Given the description of an element on the screen output the (x, y) to click on. 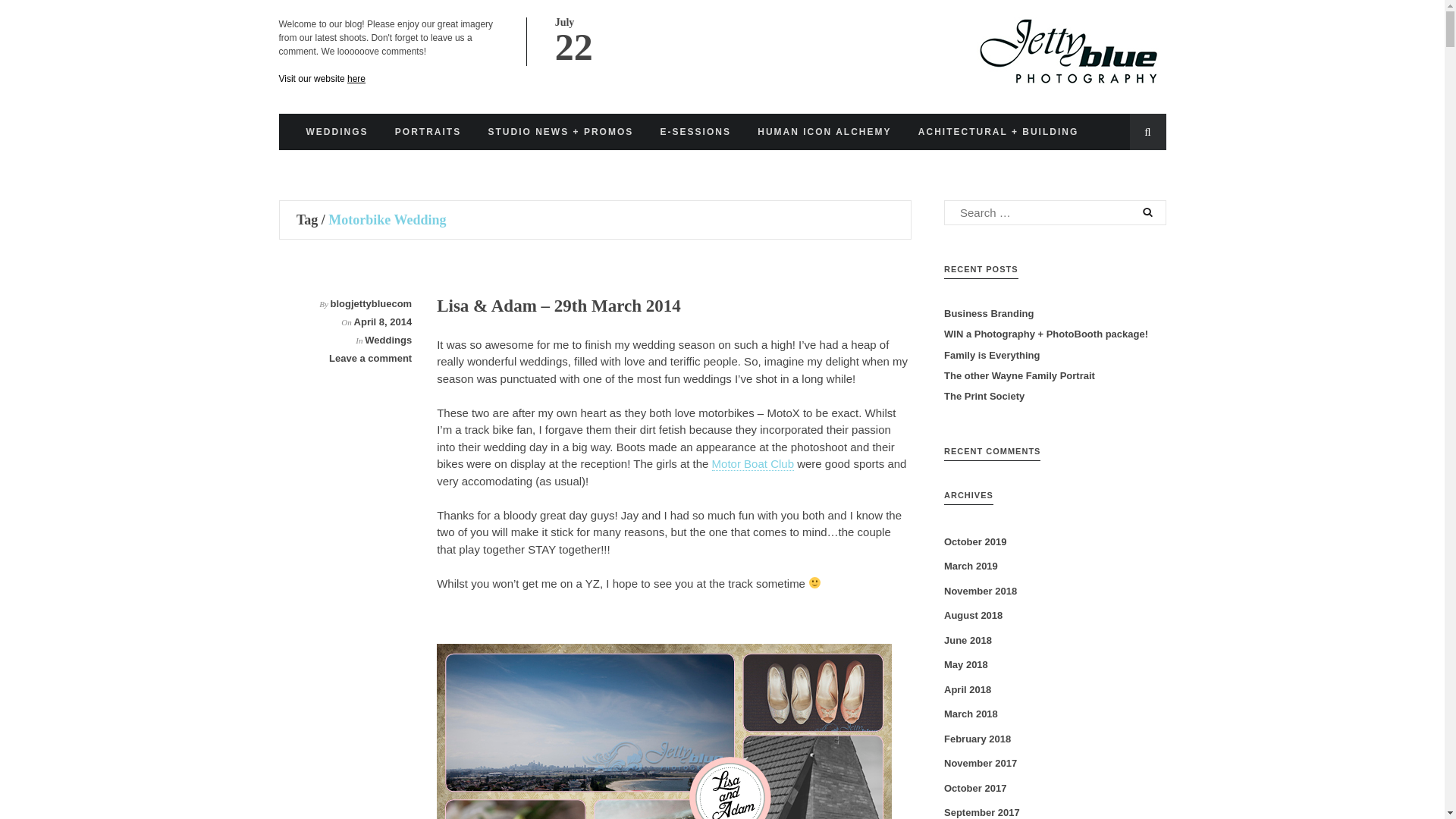
HUMAN ICON ALCHEMY (824, 131)
April 8, 2014 (382, 321)
Leave a comment (370, 357)
blogjettybluecom (371, 303)
E-SESSIONS (695, 131)
WEDDINGS (336, 131)
PORTRAITS (427, 131)
Weddings (388, 339)
Visit our website here (322, 77)
Motor Boat Club (752, 463)
